Given the description of an element on the screen output the (x, y) to click on. 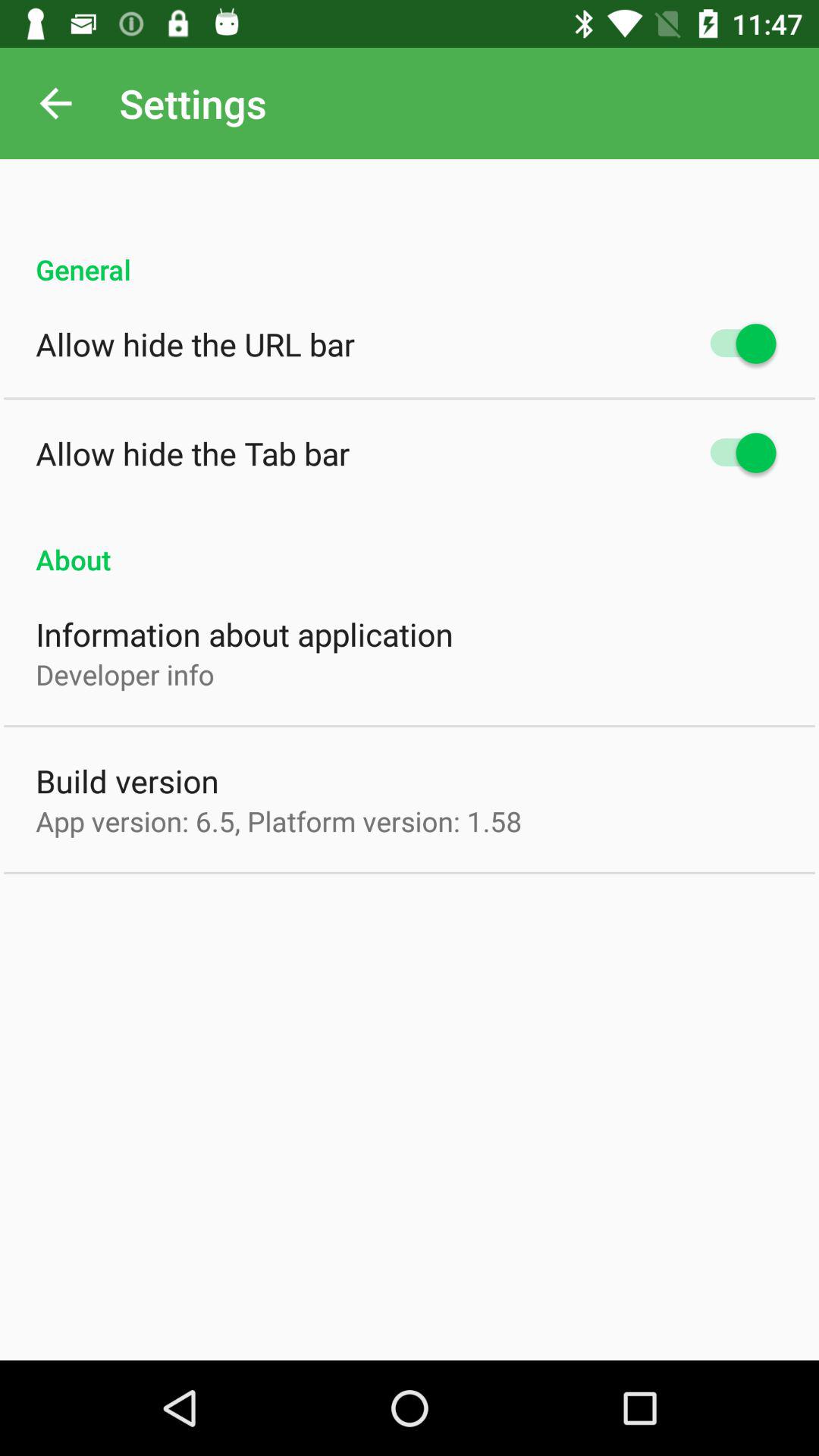
tap item below the developer info (126, 780)
